Given the description of an element on the screen output the (x, y) to click on. 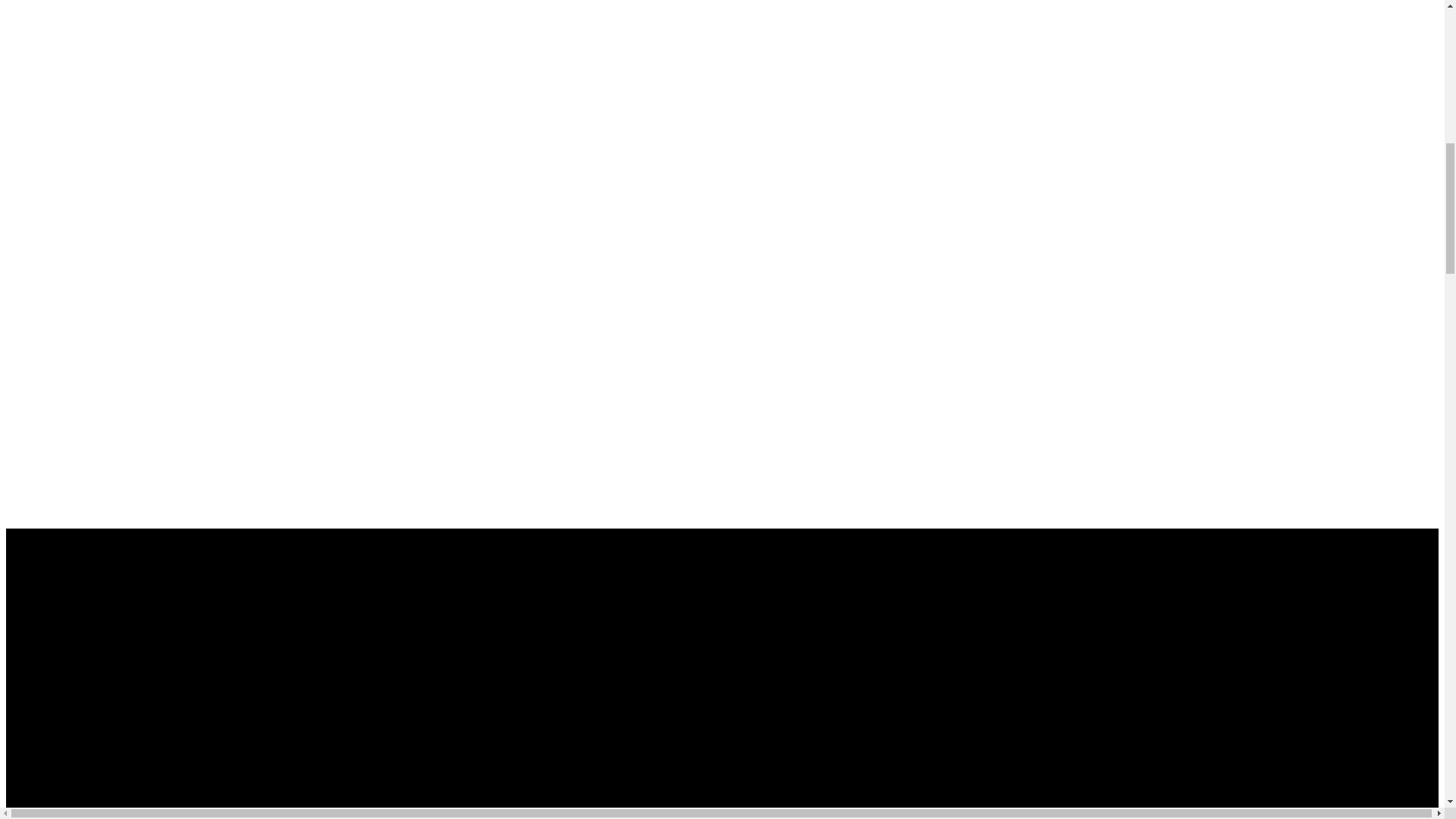
Register (30, 711)
Send My Password (54, 797)
Login (24, 595)
